Given the description of an element on the screen output the (x, y) to click on. 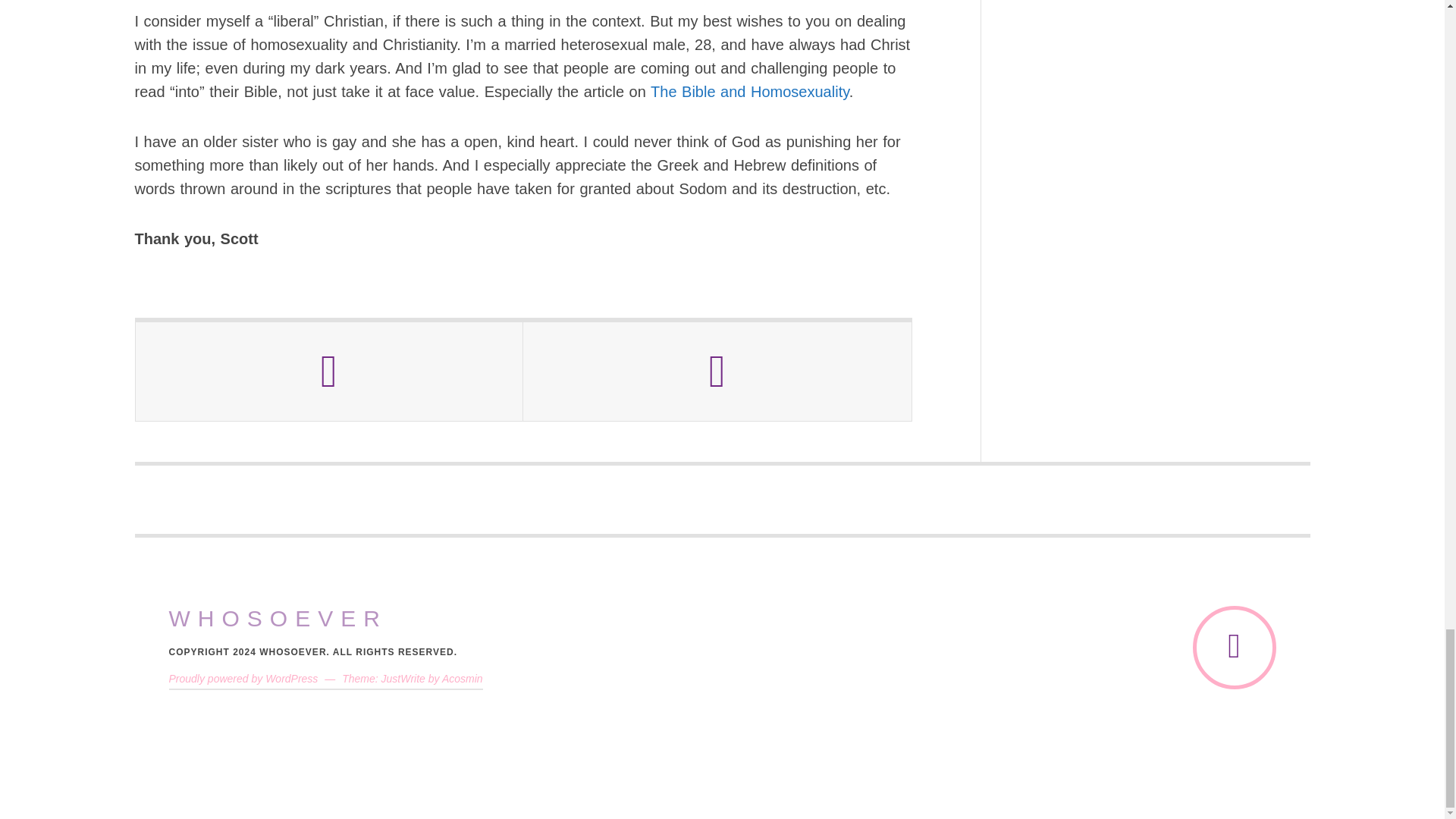
Acosmin (462, 678)
Proudly powered by WordPress (242, 678)
Whosoever (277, 618)
Next Post (716, 371)
WHOSOEVER (277, 618)
Acosmin (462, 678)
The Bible and Homosexuality (749, 91)
Previous Post (328, 371)
